Given the description of an element on the screen output the (x, y) to click on. 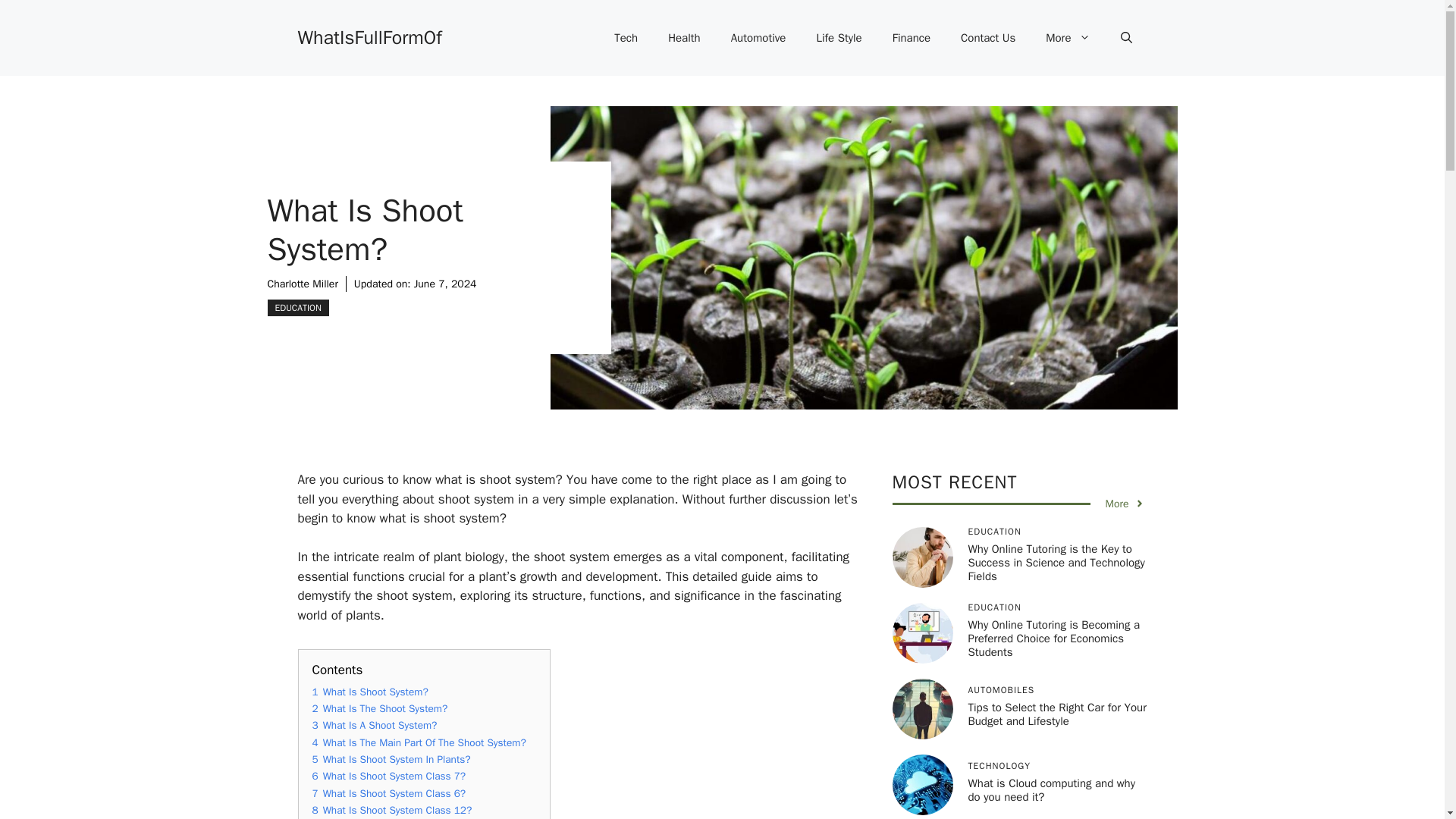
7 What Is Shoot System Class 6? (389, 793)
Charlotte Miller (301, 283)
4 What Is The Main Part Of The Shoot System? (419, 742)
WhatIsFullFormOf (369, 37)
More (1067, 37)
1 What Is Shoot System? (370, 691)
Finance (910, 37)
8 What Is Shoot System Class 12? (392, 809)
2 What Is The Shoot System? (380, 707)
Health (684, 37)
